Given the description of an element on the screen output the (x, y) to click on. 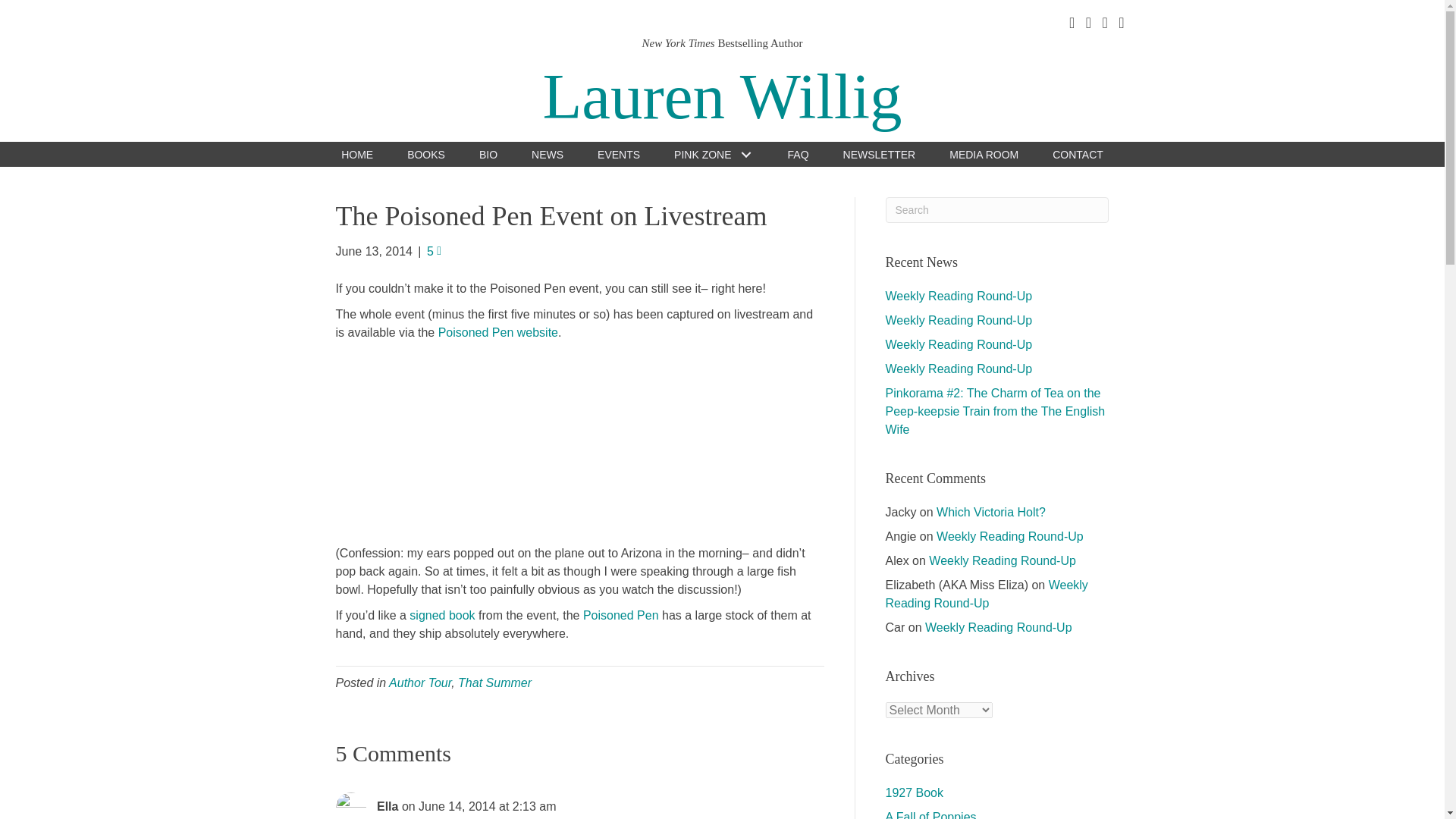
NEWSLETTER (879, 154)
Weekly Reading Round-Up (958, 344)
PINK ZONE (713, 154)
signed book (441, 615)
BOOKS (426, 154)
Poisoned Pen website (497, 332)
Poisoned Pen (621, 615)
HOME (357, 154)
Author Tour (419, 682)
Type and press Enter to search. (997, 209)
